Given the description of an element on the screen output the (x, y) to click on. 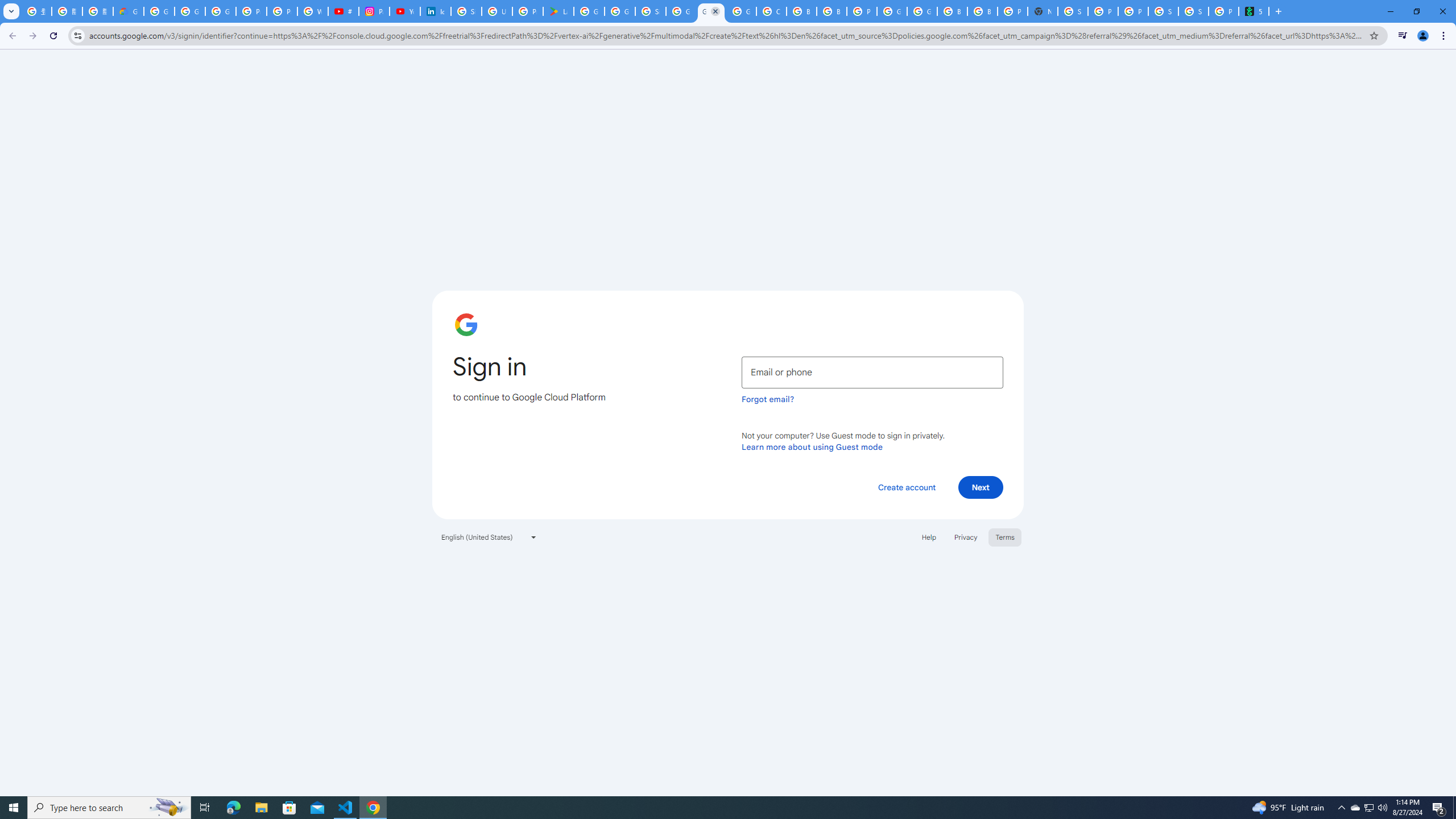
Privacy Help Center - Policies Help (282, 11)
#nbabasketballhighlights - YouTube (343, 11)
Help (928, 536)
